Given the description of an element on the screen output the (x, y) to click on. 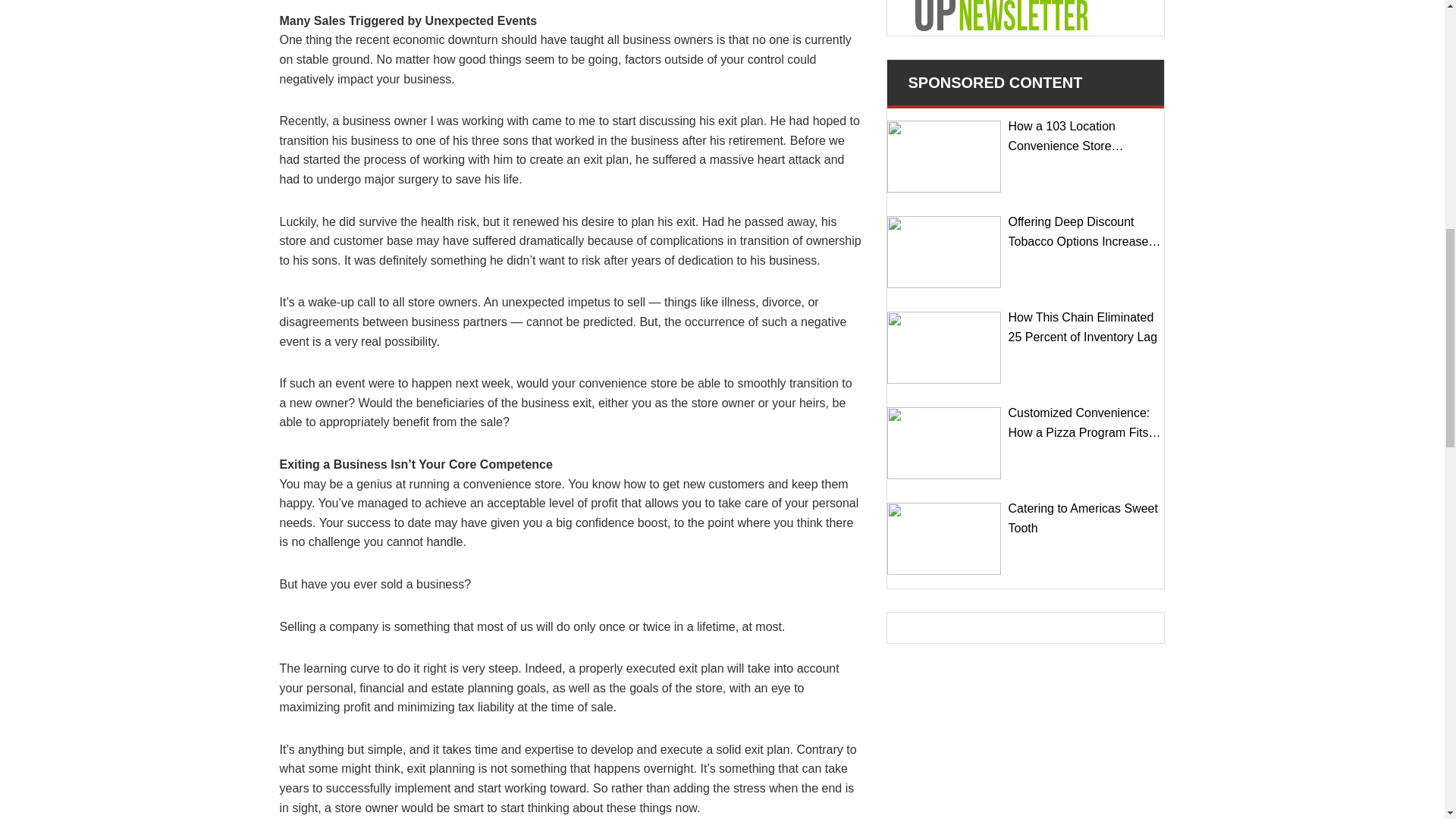
How a 103 Location Convenience Store Enhanced Operations (943, 156)
Catering to Americas Sweet Tooth (943, 538)
Offering Deep Discount Tobacco Options Increases Revenue (943, 252)
How This Chain Eliminated 25 Percent of Inventory Lag (943, 348)
